Given the description of an element on the screen output the (x, y) to click on. 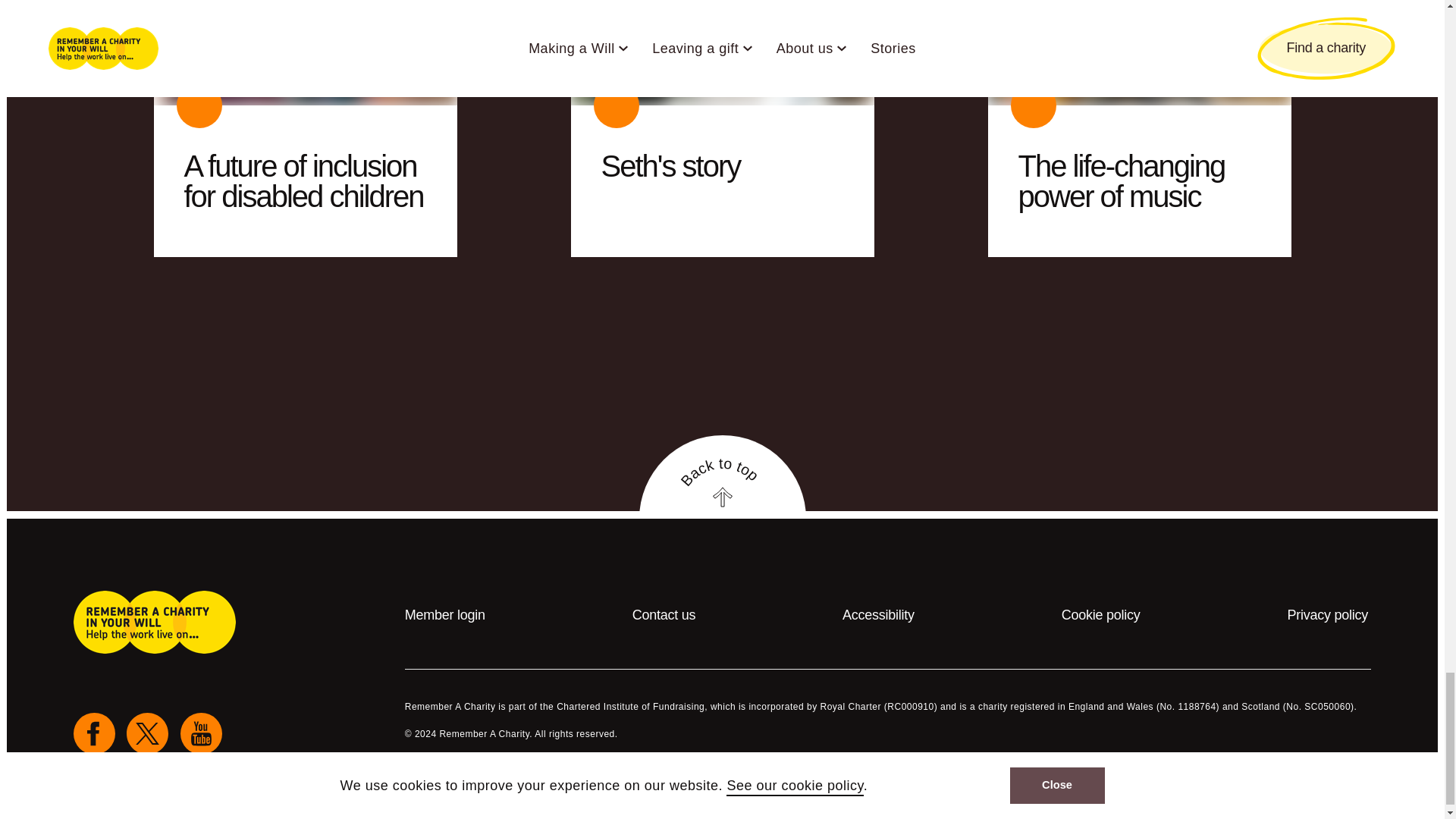
Back to top (721, 506)
Back to top (721, 506)
A future of inclusion for disabled children (722, 476)
